Given the description of an element on the screen output the (x, y) to click on. 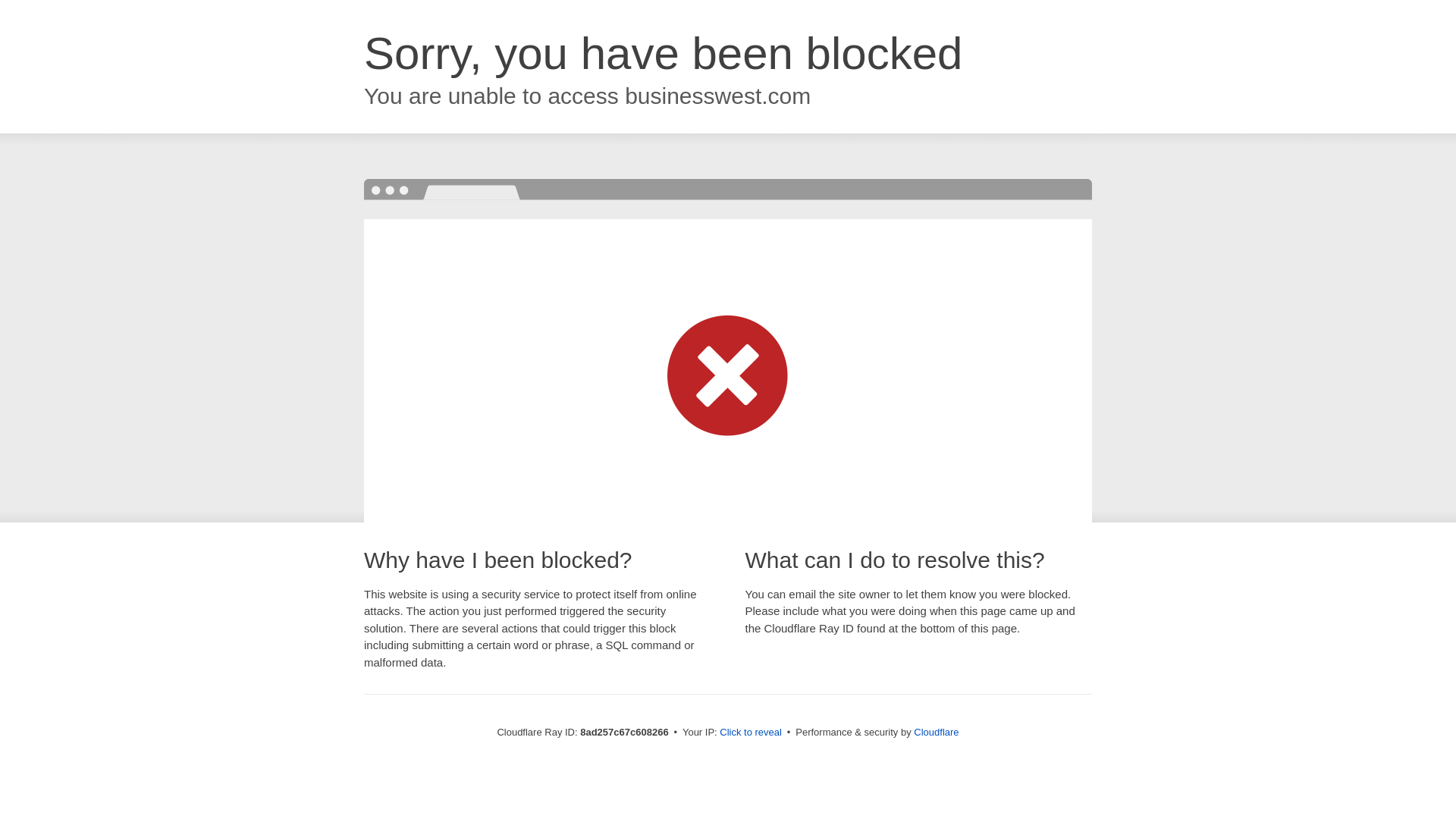
Cloudflare (936, 731)
Click to reveal (750, 732)
